Given the description of an element on the screen output the (x, y) to click on. 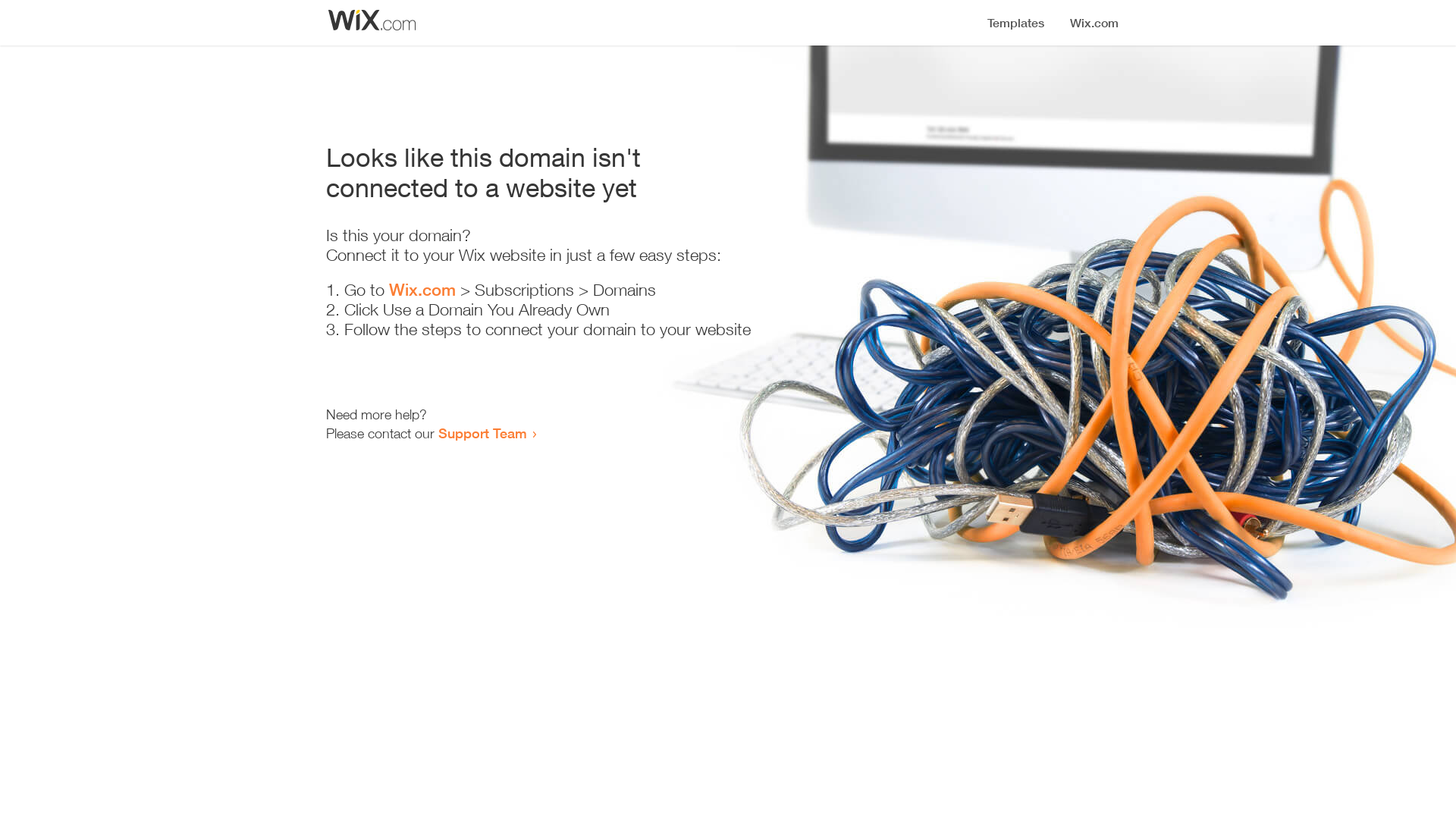
Wix.com Element type: text (422, 289)
Support Team Element type: text (482, 432)
